Given the description of an element on the screen output the (x, y) to click on. 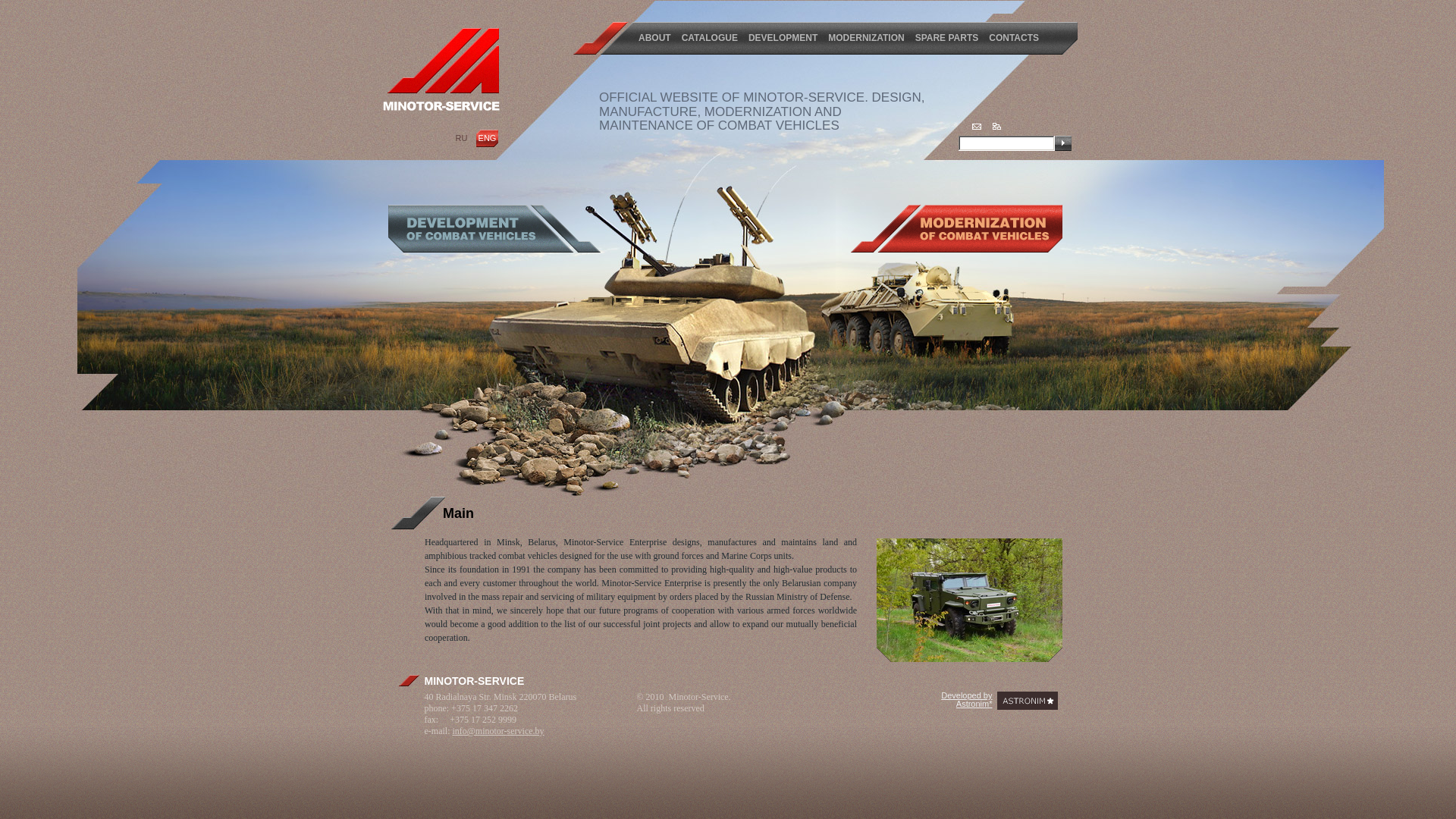
RU Element type: text (461, 137)
MODERNIZATION Element type: text (865, 37)
Development of combat vehicles Element type: hover (494, 228)
DEVELOPMENT Element type: text (782, 37)
MODERNIZATION AND MAINTENANCE OF COMBAT VEHICLES Element type: text (720, 118)
Developed by Astronim* Element type: text (966, 699)
DESIGN, MANUFACTURE Element type: text (761, 104)
OFFICIAL WEBSITE OF MINOTOR-SERVICE Element type: text (731, 97)
info@minotor-service.by Element type: text (497, 730)
Modernization of combat vehicles Element type: hover (956, 228)
ABOUT Element type: text (654, 37)
CATALOGUE Element type: text (709, 37)
CONTACTS Element type: text (1013, 37)
Contacts Element type: hover (976, 125)
MINOTOR-SERVICE Element type: hover (440, 69)
SPARE PARTS Element type: text (947, 37)
Sitemap Element type: hover (996, 125)
